Given the description of an element on the screen output the (x, y) to click on. 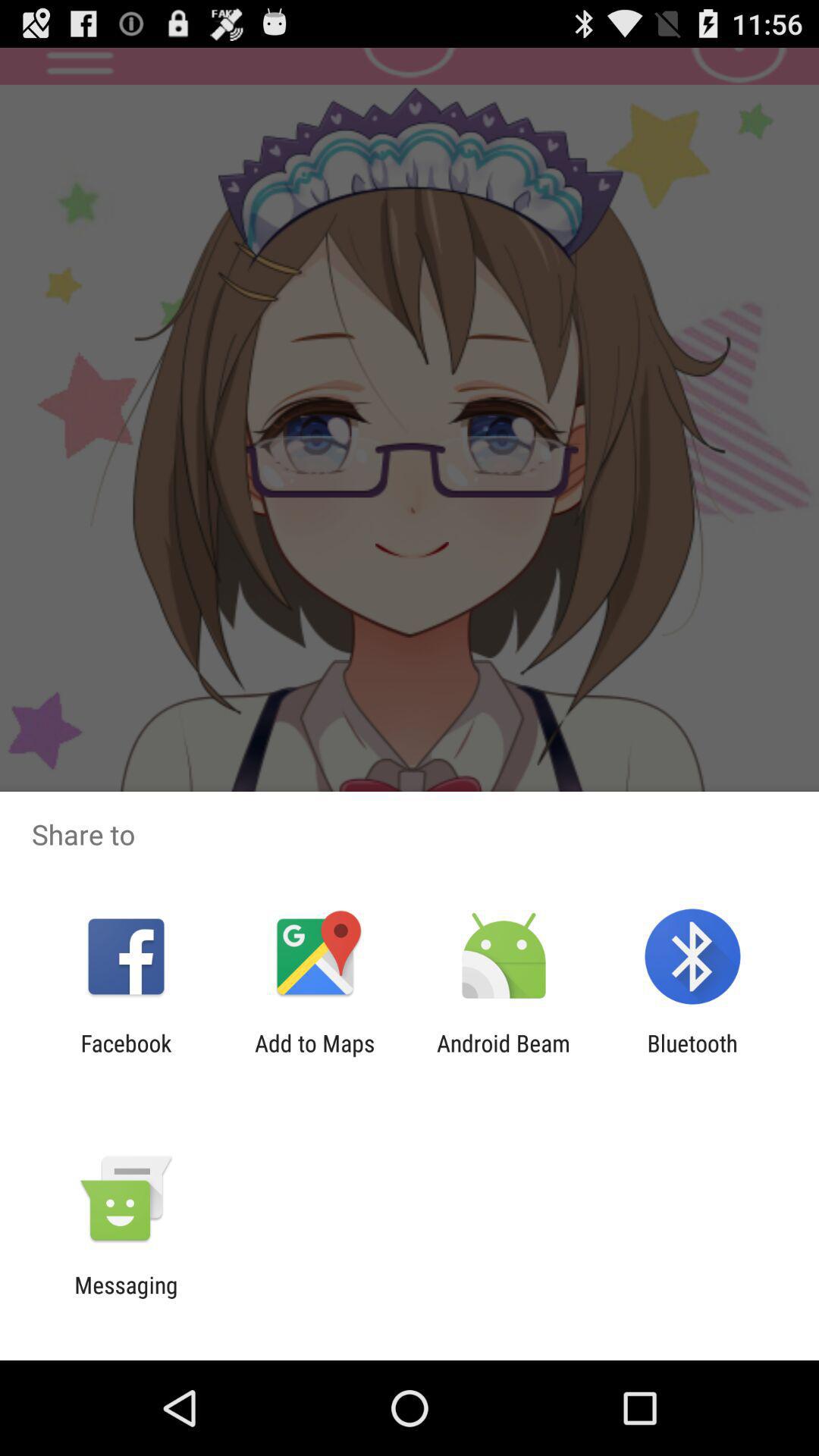
click the icon next to the android beam icon (692, 1056)
